Given the description of an element on the screen output the (x, y) to click on. 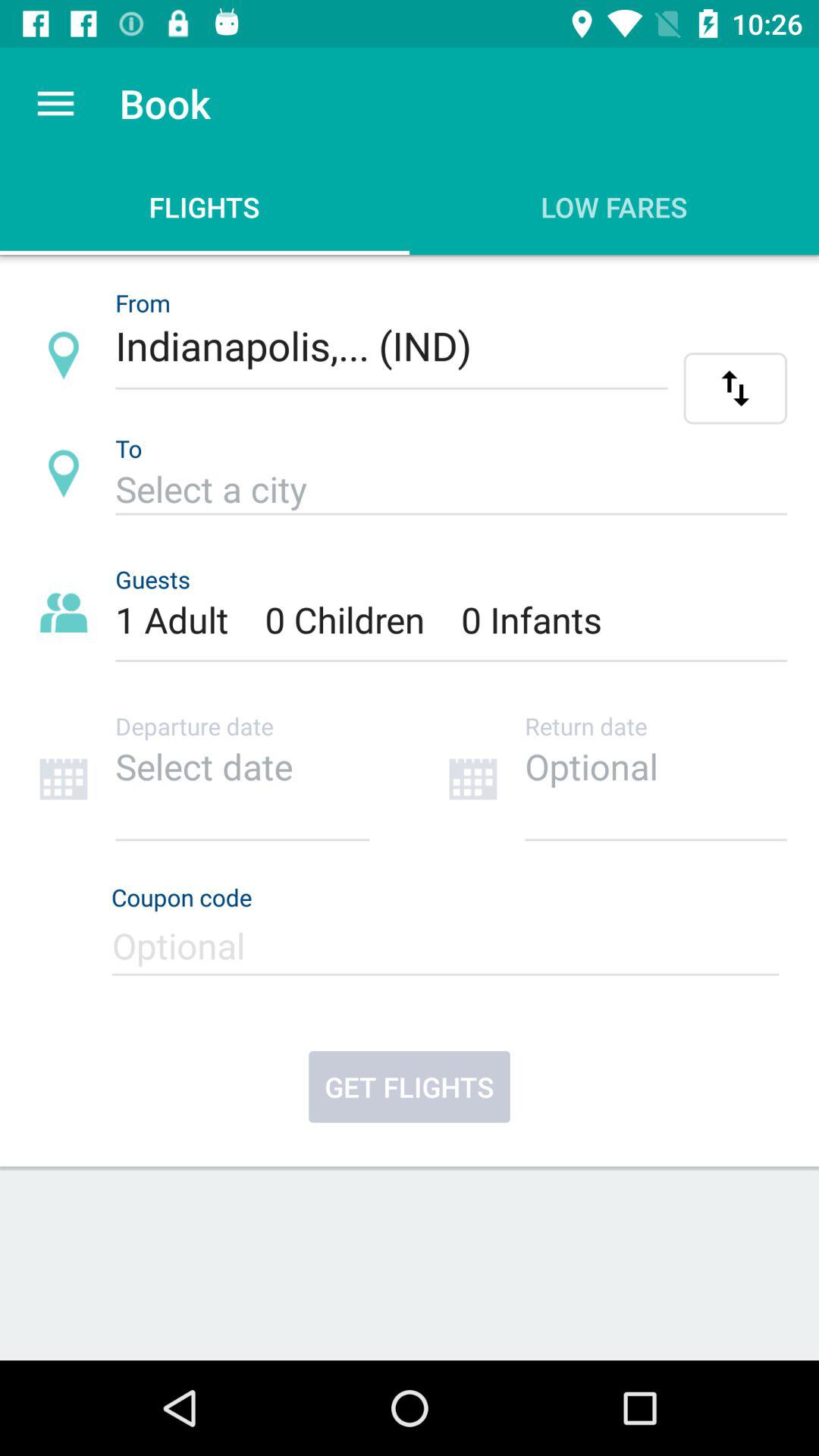
launch the icon to the left of the book (55, 103)
